Given the description of an element on the screen output the (x, y) to click on. 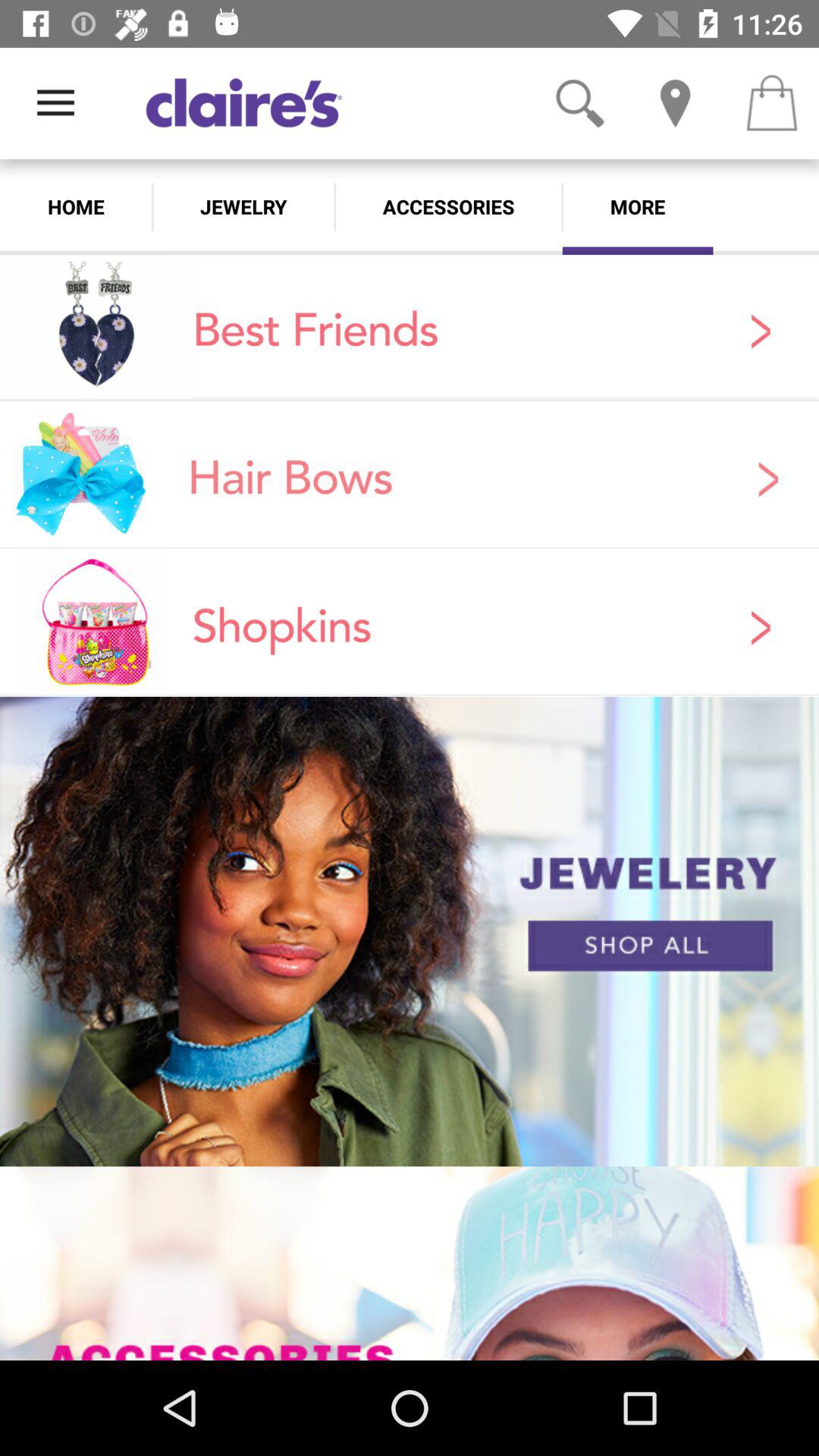
click the item next to the more icon (448, 206)
